Given the description of an element on the screen output the (x, y) to click on. 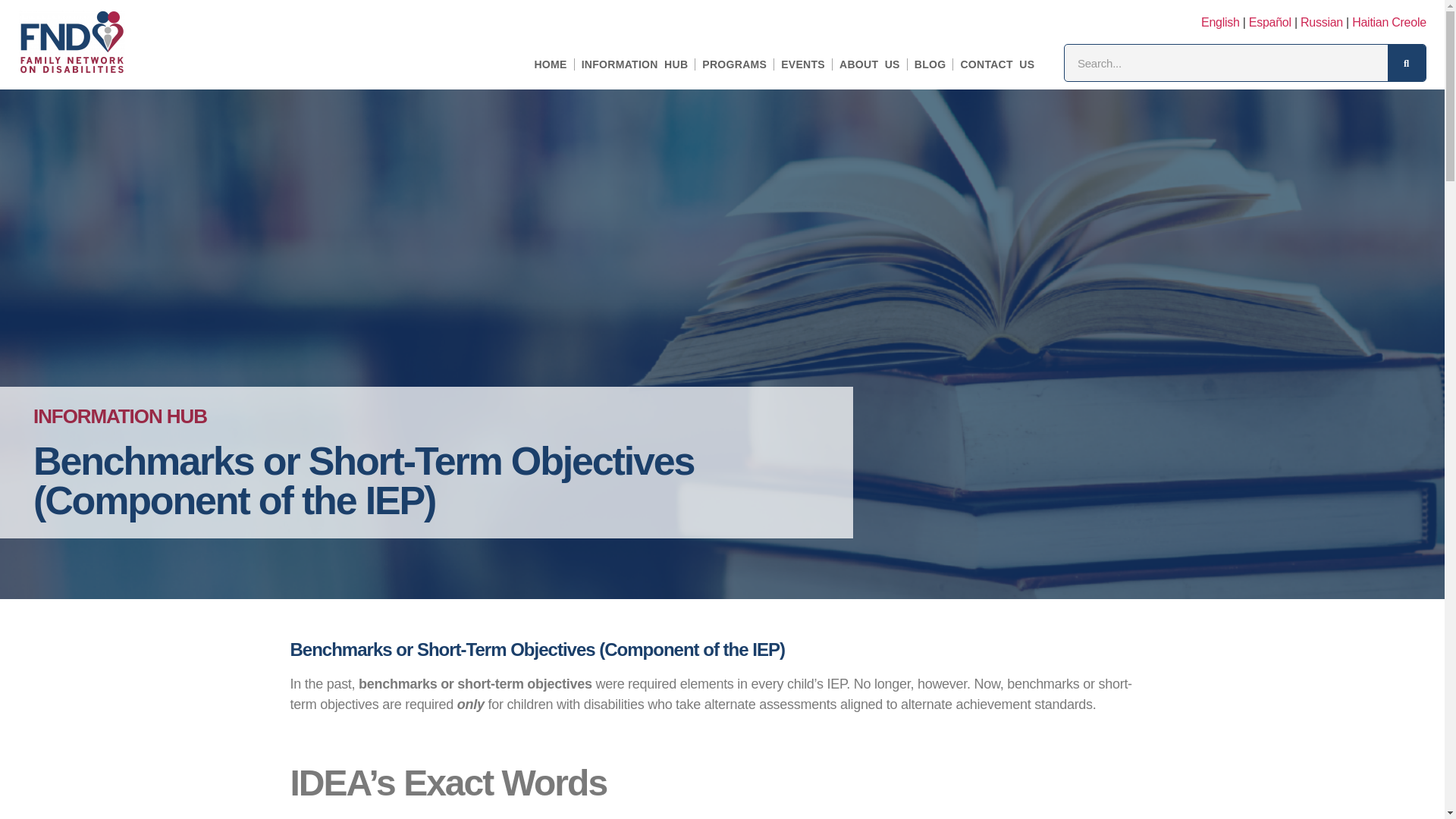
Spanish (1270, 22)
FND-LOG-White-Drop (71, 41)
English (1220, 22)
BLOG (929, 63)
EVENTS (803, 63)
HOME (549, 63)
Haitian (1389, 22)
Russian (1321, 22)
CONTACT US (996, 63)
INFORMATION HUB (635, 63)
